Given the description of an element on the screen output the (x, y) to click on. 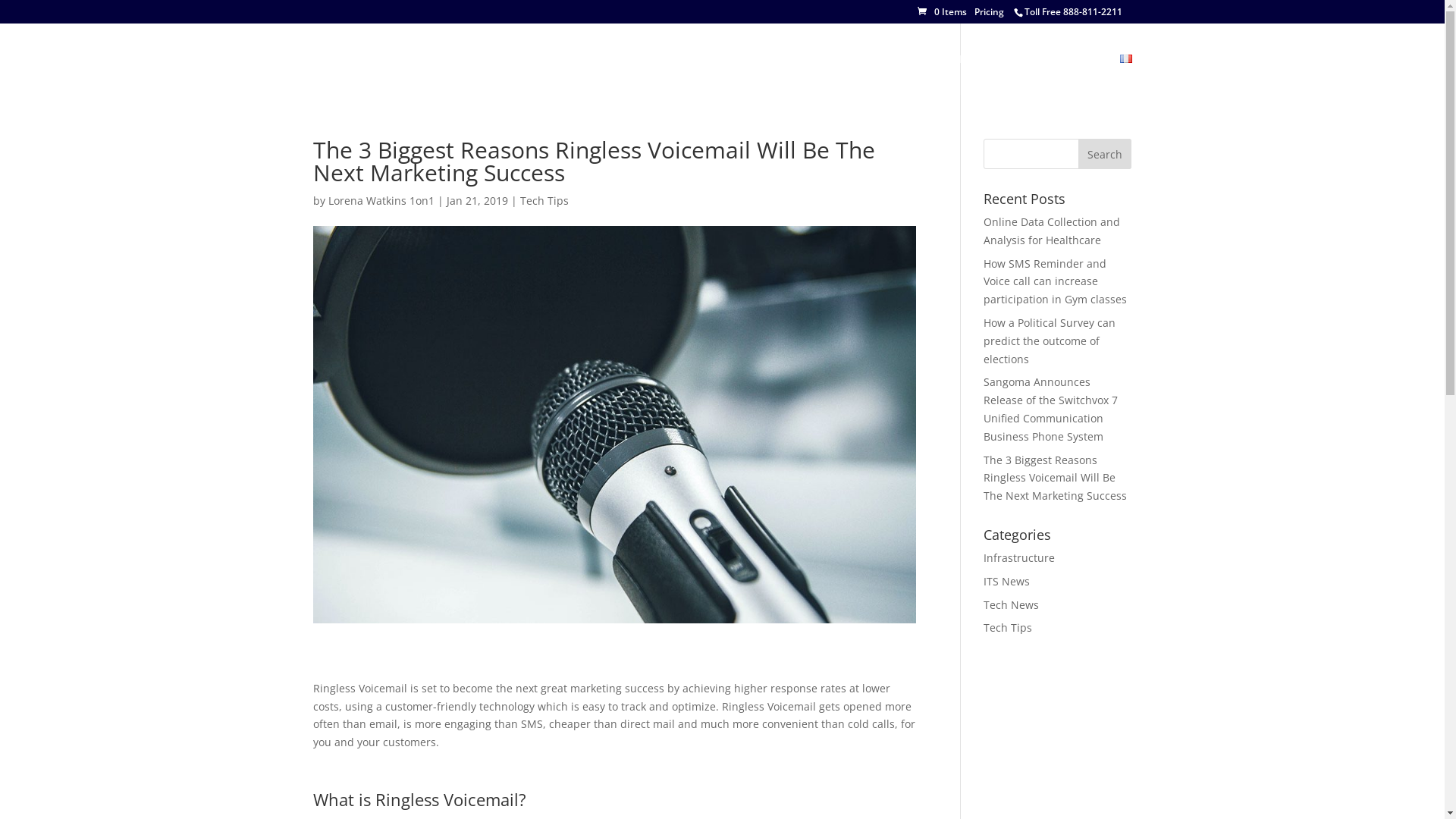
Login Element type: text (1087, 73)
0 Items Element type: text (941, 11)
Search Element type: text (1104, 153)
Pricing Element type: text (988, 11)
CONTACT US Element type: text (1024, 73)
How a Political Survey can predict the outcome of elections Element type: text (1049, 340)
SOLUTIONS Element type: text (831, 73)
Tech Tips Element type: text (544, 200)
Toll Free 888-811-2211 Element type: text (1072, 11)
PRICING Element type: text (953, 73)
BLOG Element type: text (901, 73)
Online Data Collection and Analysis for Healthcare Element type: text (1051, 230)
Tech Tips Element type: text (1007, 627)
Infrastructure Element type: text (1018, 557)
ITS News Element type: text (1006, 581)
ABOUT Element type: text (753, 73)
Tech News Element type: text (1010, 604)
Lorena Watkins 1on1 Element type: text (380, 200)
